Given the description of an element on the screen output the (x, y) to click on. 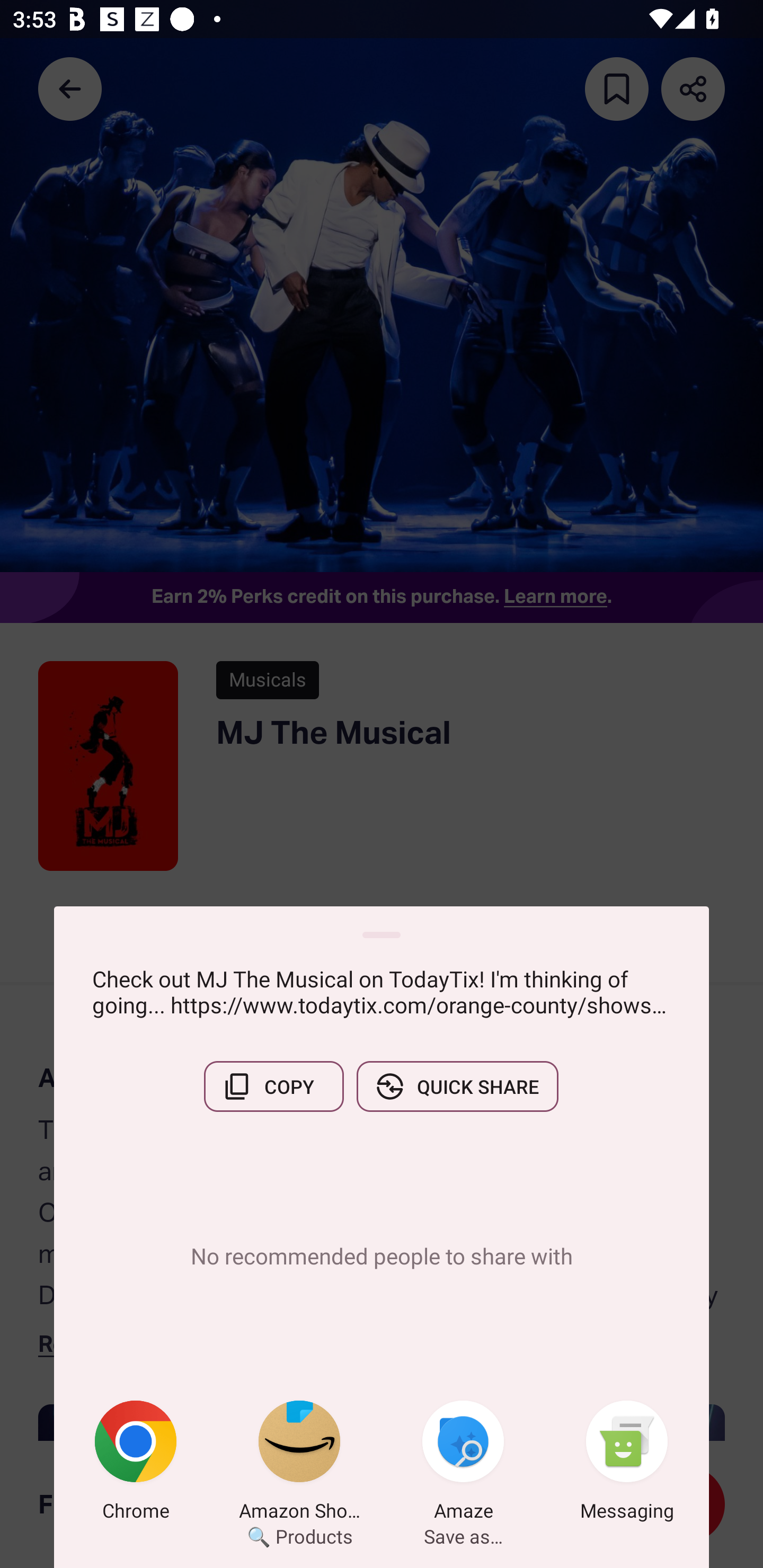
COPY (273, 1086)
QUICK SHARE (457, 1086)
Chrome (135, 1463)
Amazon Shopping 🔍 Products (299, 1463)
Amaze Save as… (463, 1463)
Messaging (626, 1463)
